Given the description of an element on the screen output the (x, y) to click on. 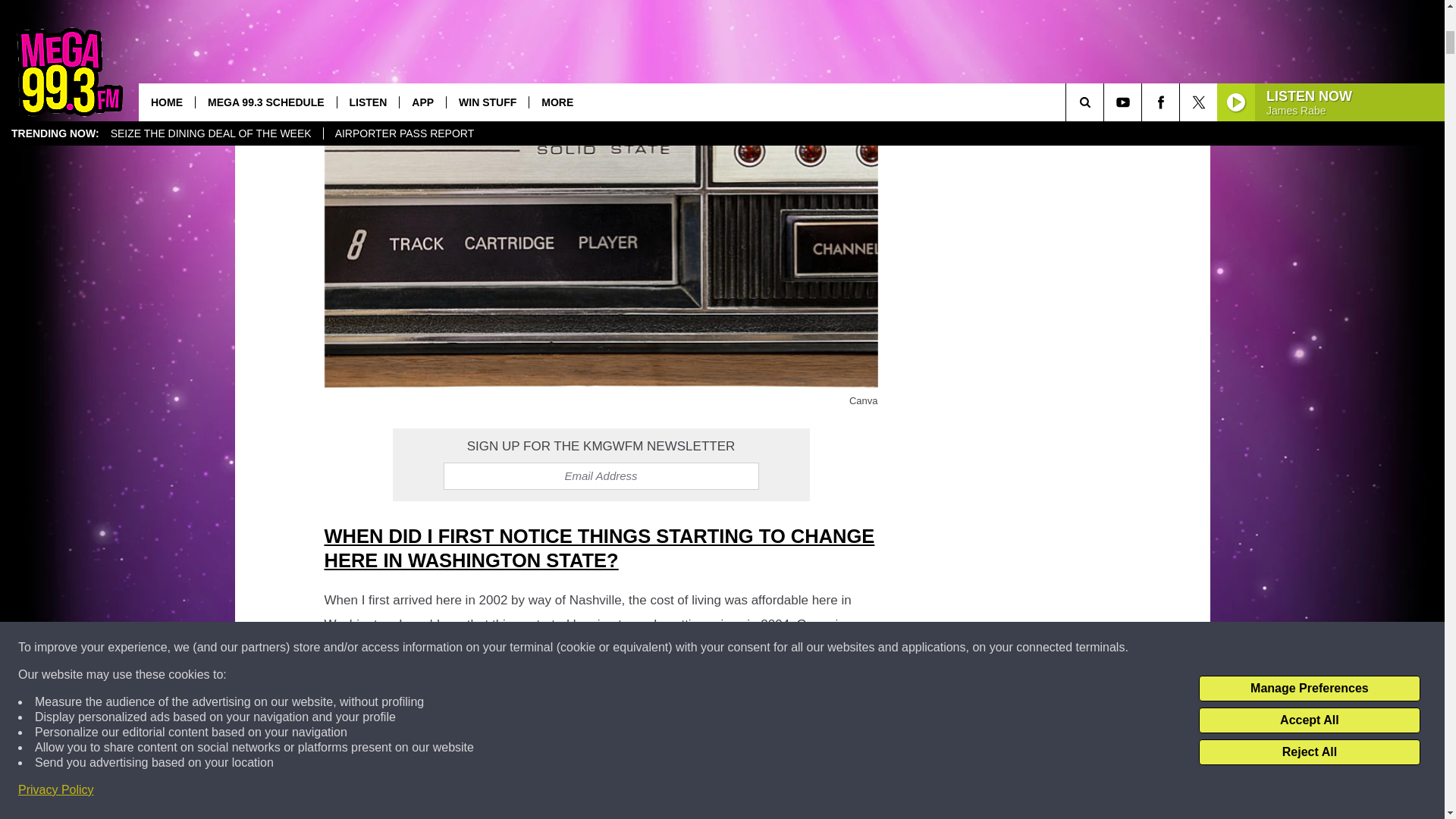
Email Address (600, 475)
